Given the description of an element on the screen output the (x, y) to click on. 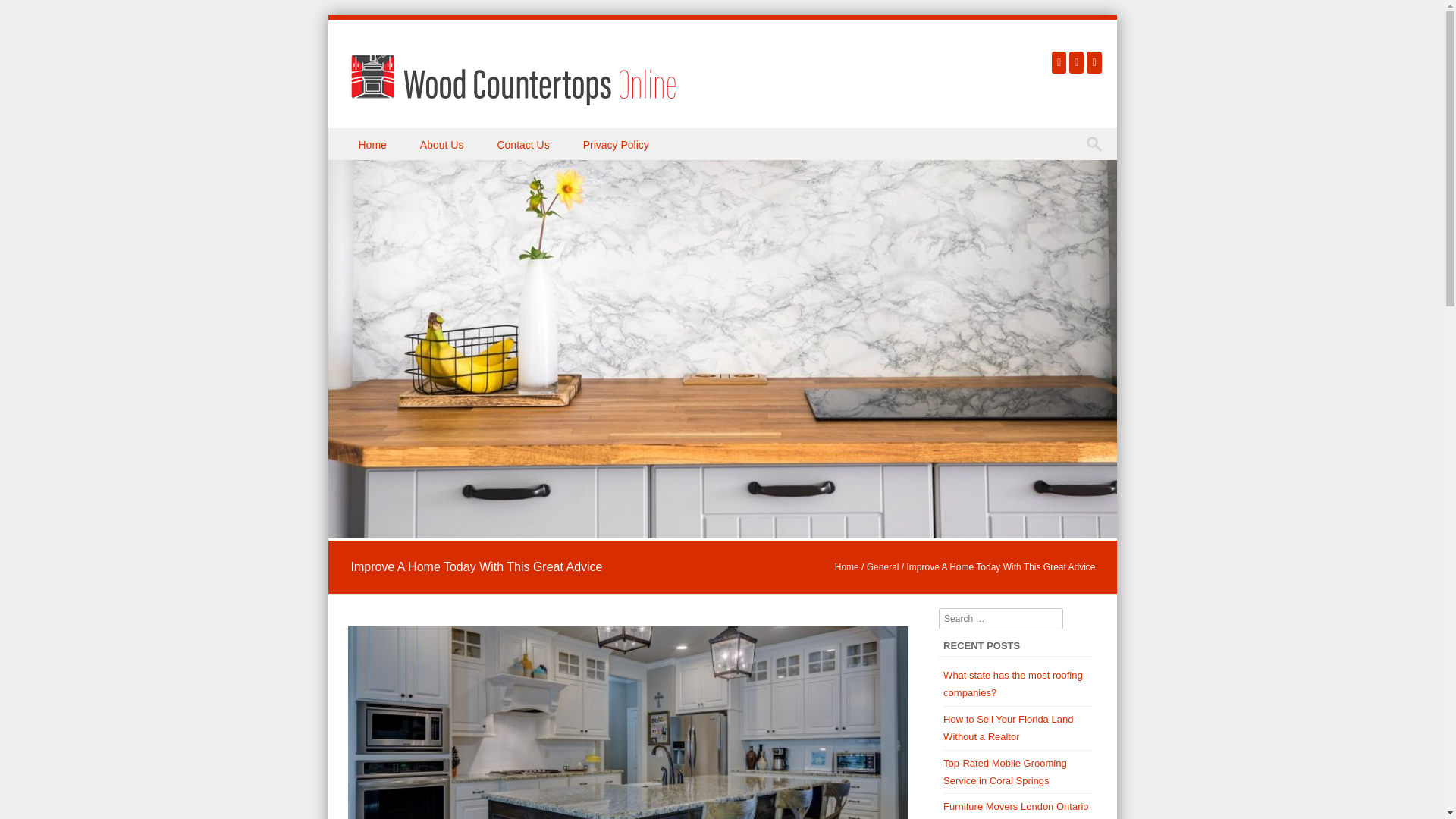
Skip to content (362, 137)
Home (373, 143)
Contact Us (524, 143)
Search for: (1097, 143)
About Us (442, 143)
Skip to content (362, 137)
Privacy Policy (616, 143)
Navigation Toggle (353, 160)
How to Sell Your Florida Land Without a Realtor (1008, 727)
Home (846, 566)
What state has the most roofing companies? (1013, 683)
Furniture Movers London Ontario (1015, 806)
Search (26, 14)
Connecticut Wood Countertops Online (512, 80)
General (882, 566)
